Given the description of an element on the screen output the (x, y) to click on. 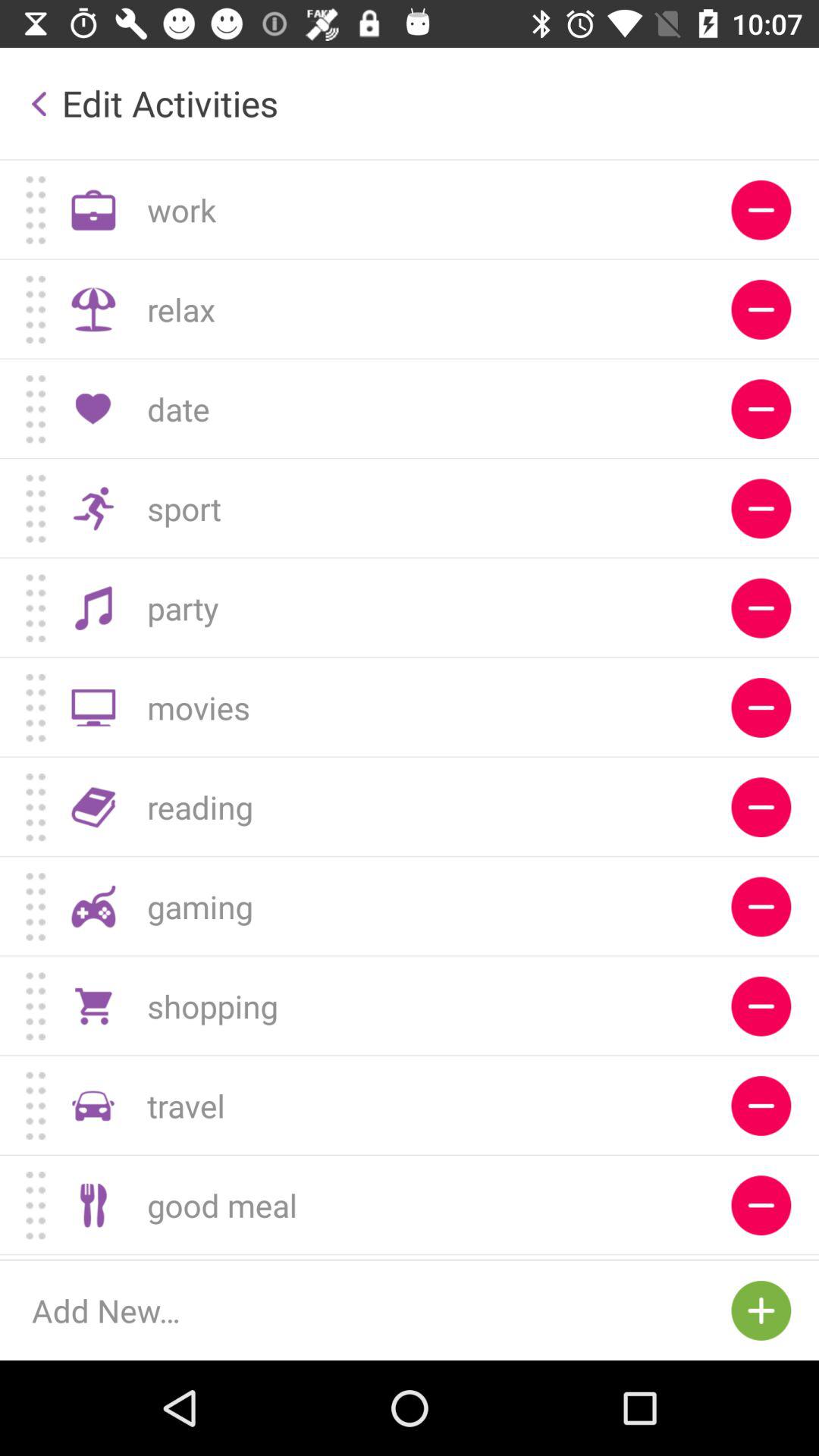
remove gaming (761, 906)
